Given the description of an element on the screen output the (x, y) to click on. 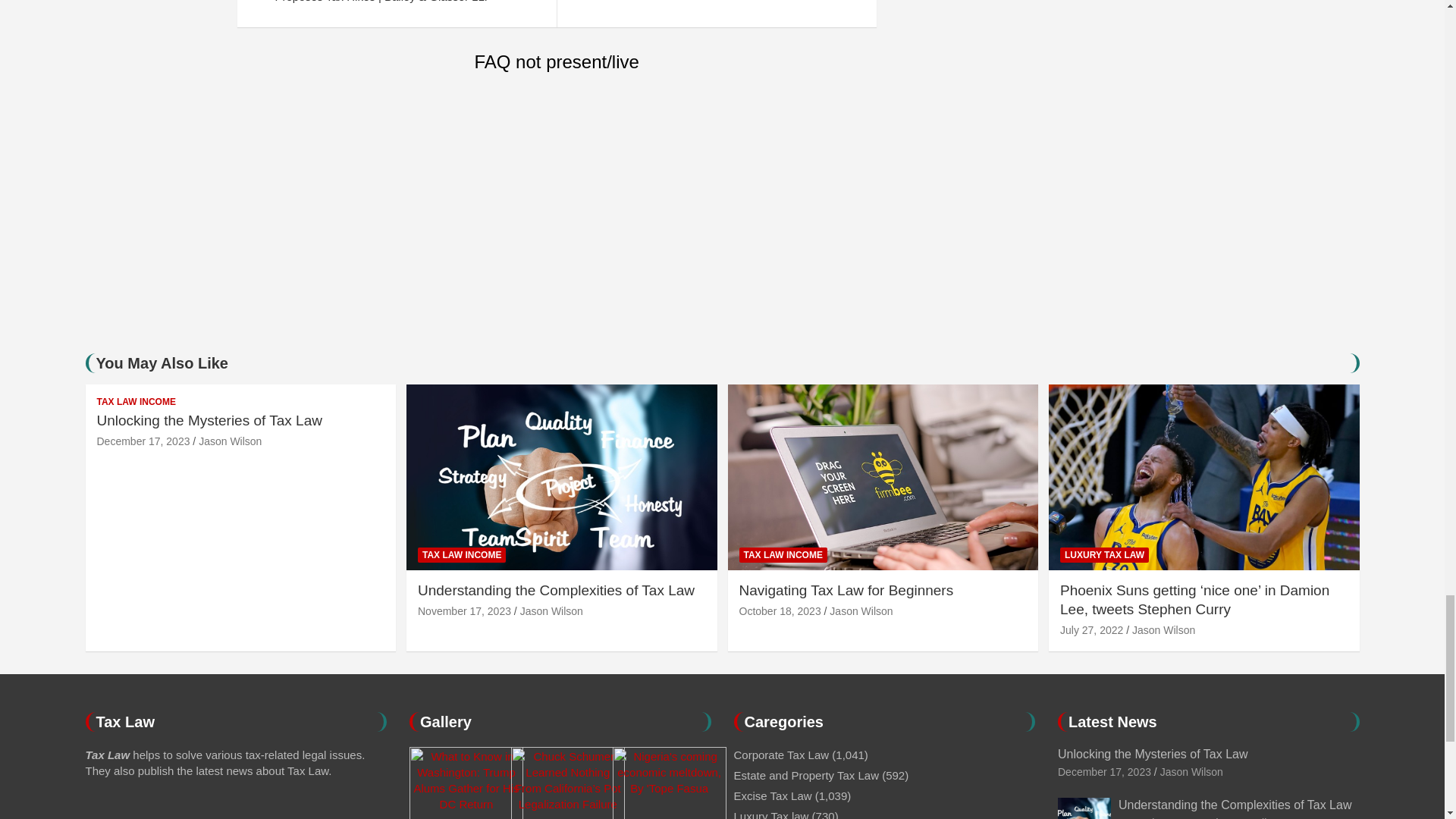
Unlocking the Mysteries of Tax Law (143, 440)
Understanding the Complexities of Tax Law (464, 611)
Unlocking the Mysteries of Tax Law (1104, 771)
Navigating Tax Law for Beginners (779, 611)
Understanding the Complexities of Tax Law (1164, 817)
